Given the description of an element on the screen output the (x, y) to click on. 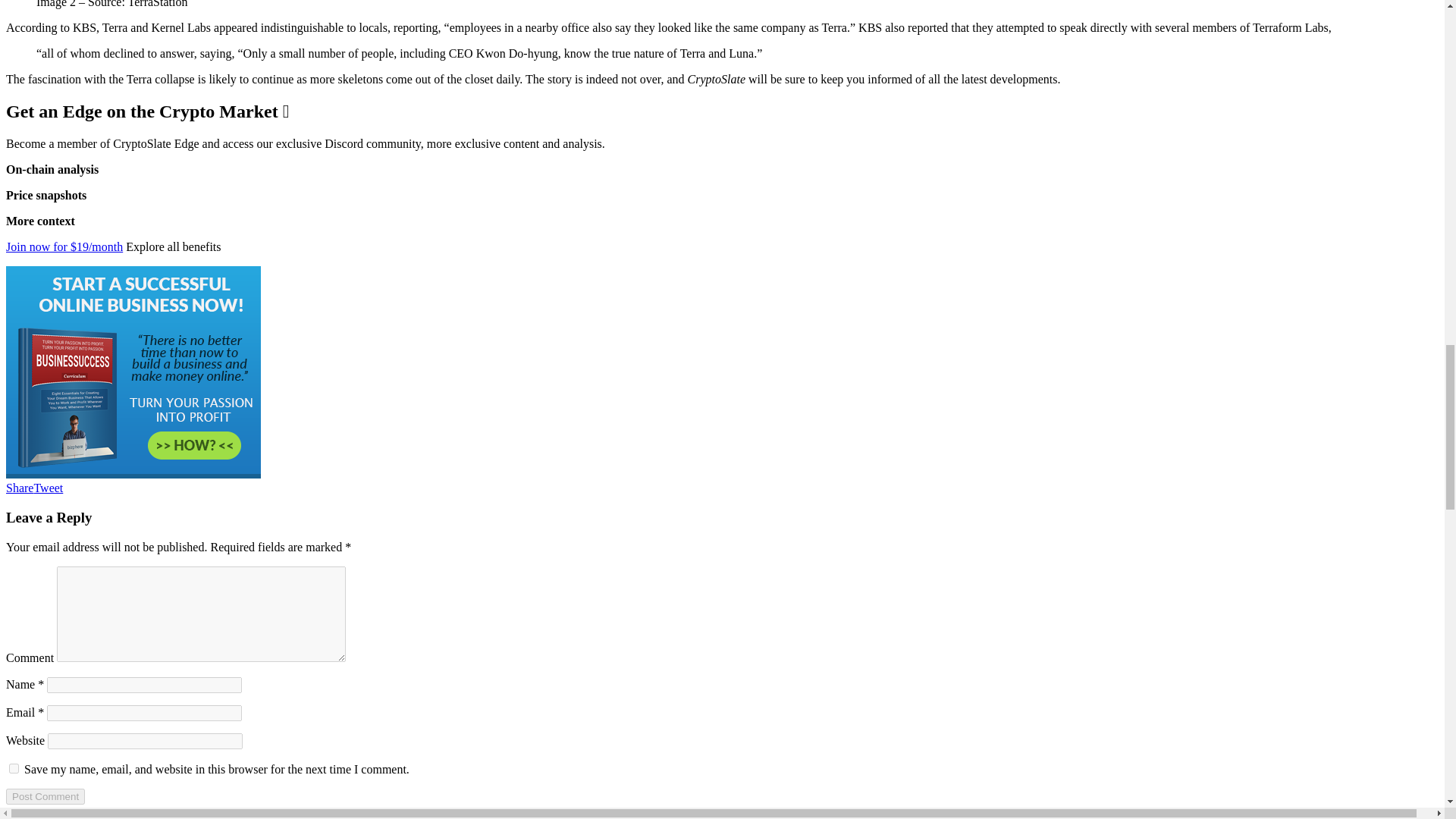
Share (19, 487)
How to Start an Online Business (132, 473)
yes (13, 768)
Tweet (47, 487)
Tweet on Twitter (47, 487)
How to Start an Online Business (132, 372)
Post Comment (44, 796)
Share On Facebook (19, 487)
